Given the description of an element on the screen output the (x, y) to click on. 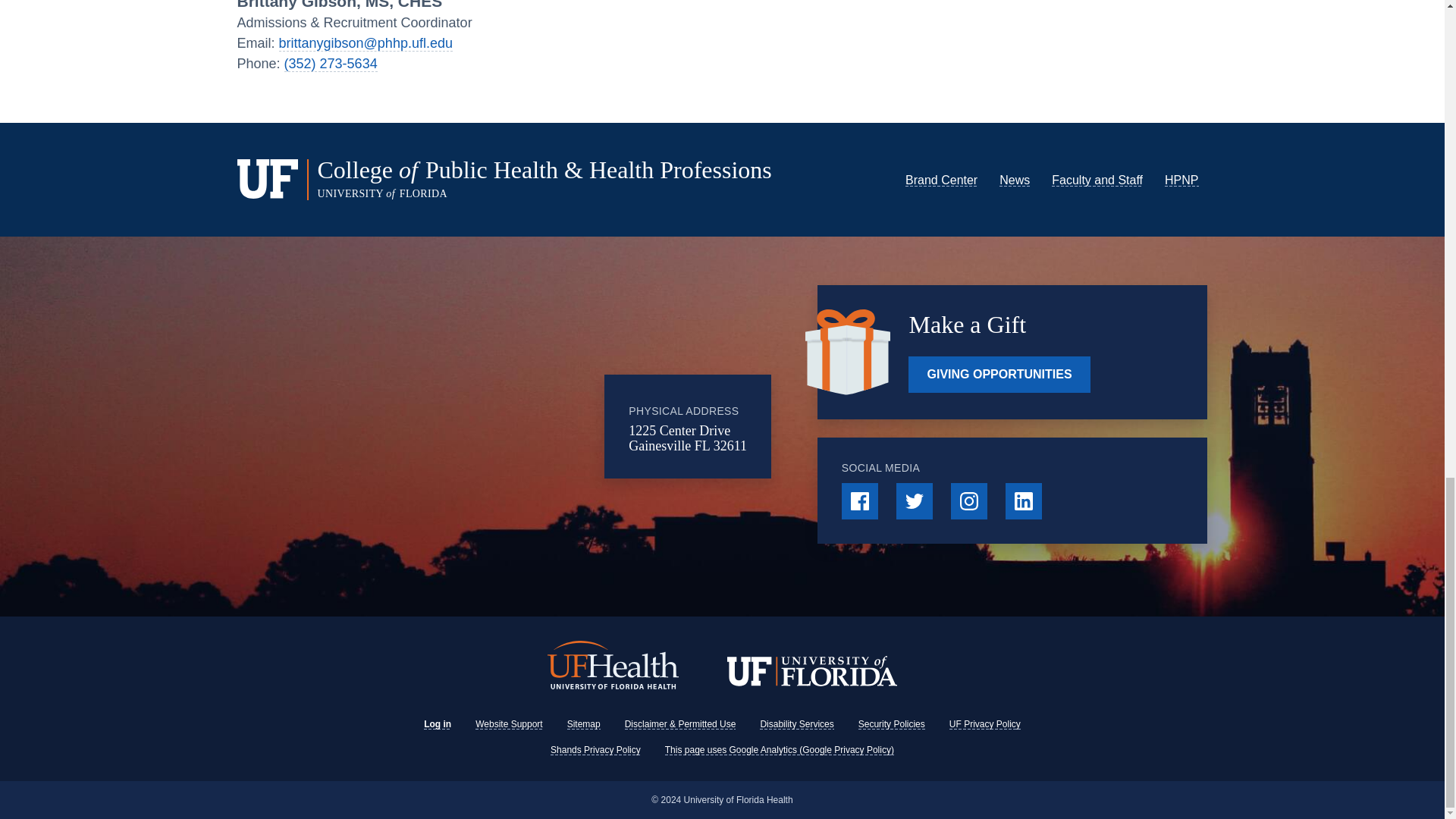
HPNP (1181, 179)
Log in (437, 724)
Sitemap (583, 724)
News (1013, 179)
Faculty and Staff (1096, 179)
Shands Privacy Policy (595, 749)
Brand Center (940, 179)
UF Privacy Policy (984, 724)
Google Maps Embed (480, 425)
Security Policies (891, 724)
Disability Services (796, 724)
Website Support (509, 724)
